Given the description of an element on the screen output the (x, y) to click on. 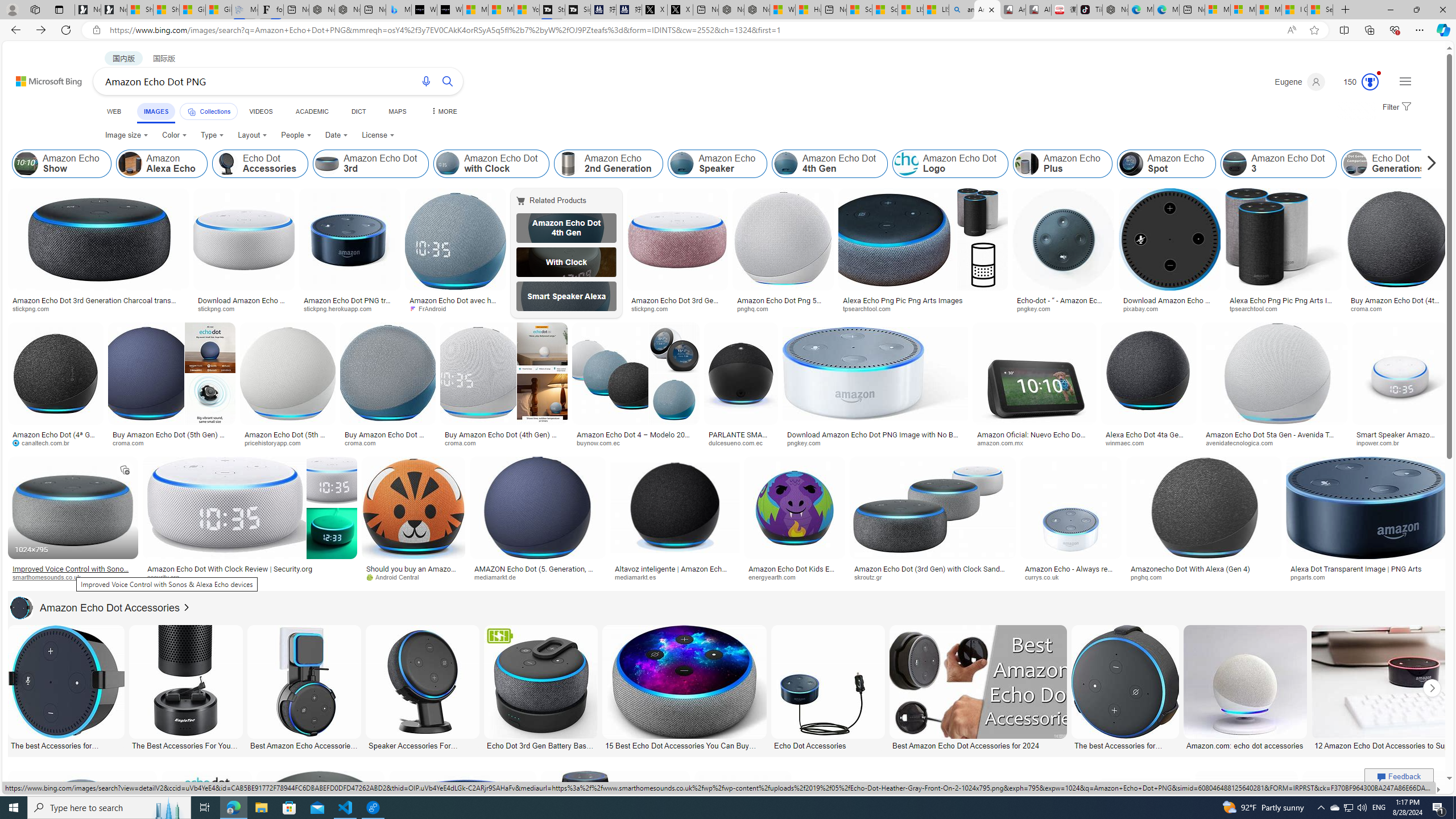
IMAGES (156, 112)
Microsoft Bing Travel - Shangri-La Hotel Bangkok (398, 9)
WEB (114, 111)
X (679, 9)
Amazon Echo Speaker (717, 163)
buynow.com.ec (635, 442)
Amazon Echo Dot 3 (1235, 163)
Amazon Echo Speaker (681, 163)
FrAndroid (431, 308)
skroutz.gr (871, 576)
